Given the description of an element on the screen output the (x, y) to click on. 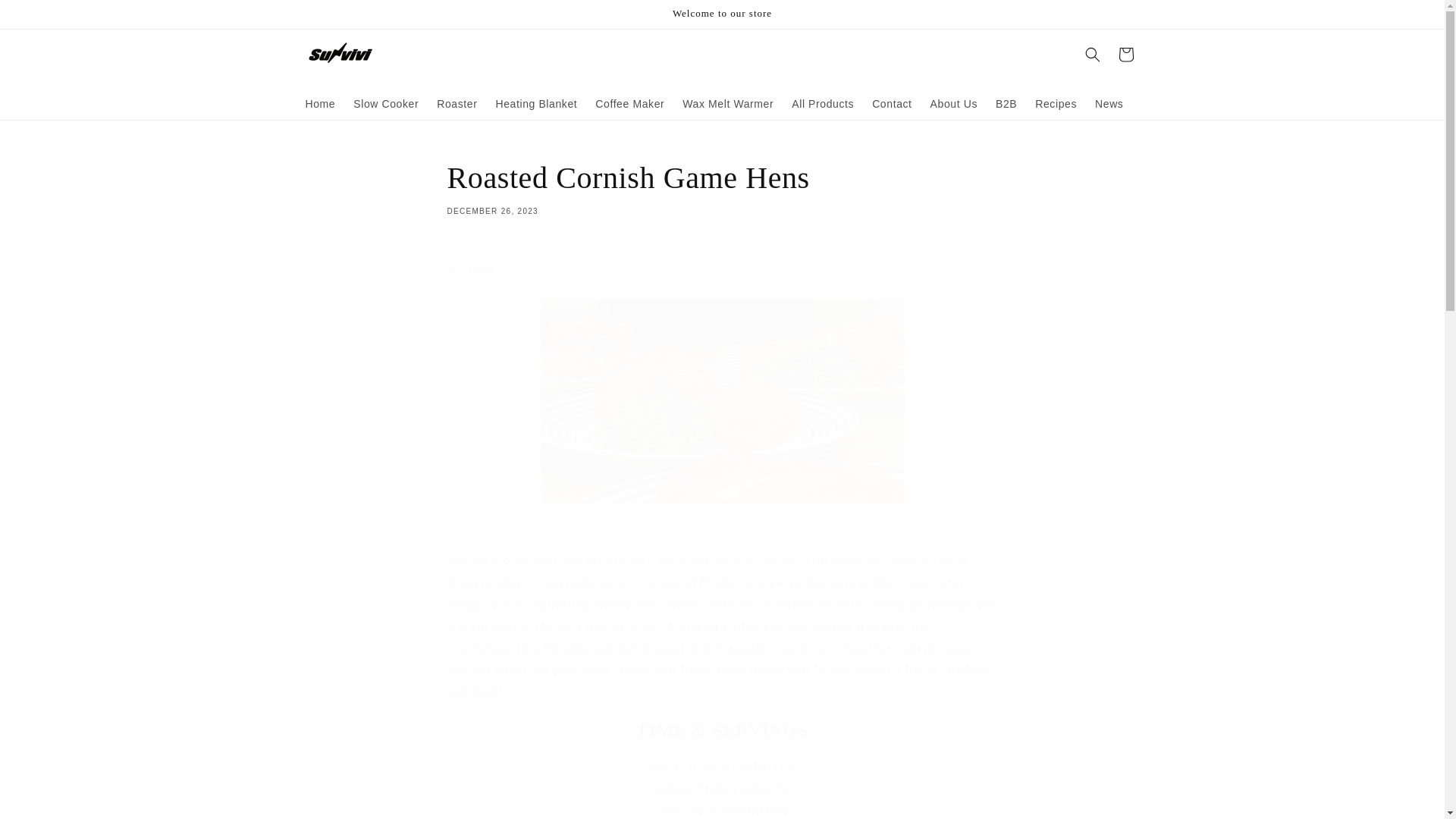
Cart (1124, 54)
Home (319, 103)
News (1109, 103)
Roaster (457, 103)
Heating Blanket (536, 103)
About Us (954, 103)
Coffee Maker (629, 103)
Wax Melt Warmer (727, 103)
Recipes (1056, 103)
B2B (1006, 103)
Skip to content (45, 17)
Share (721, 270)
Contact (891, 103)
All Products (721, 187)
